Given the description of an element on the screen output the (x, y) to click on. 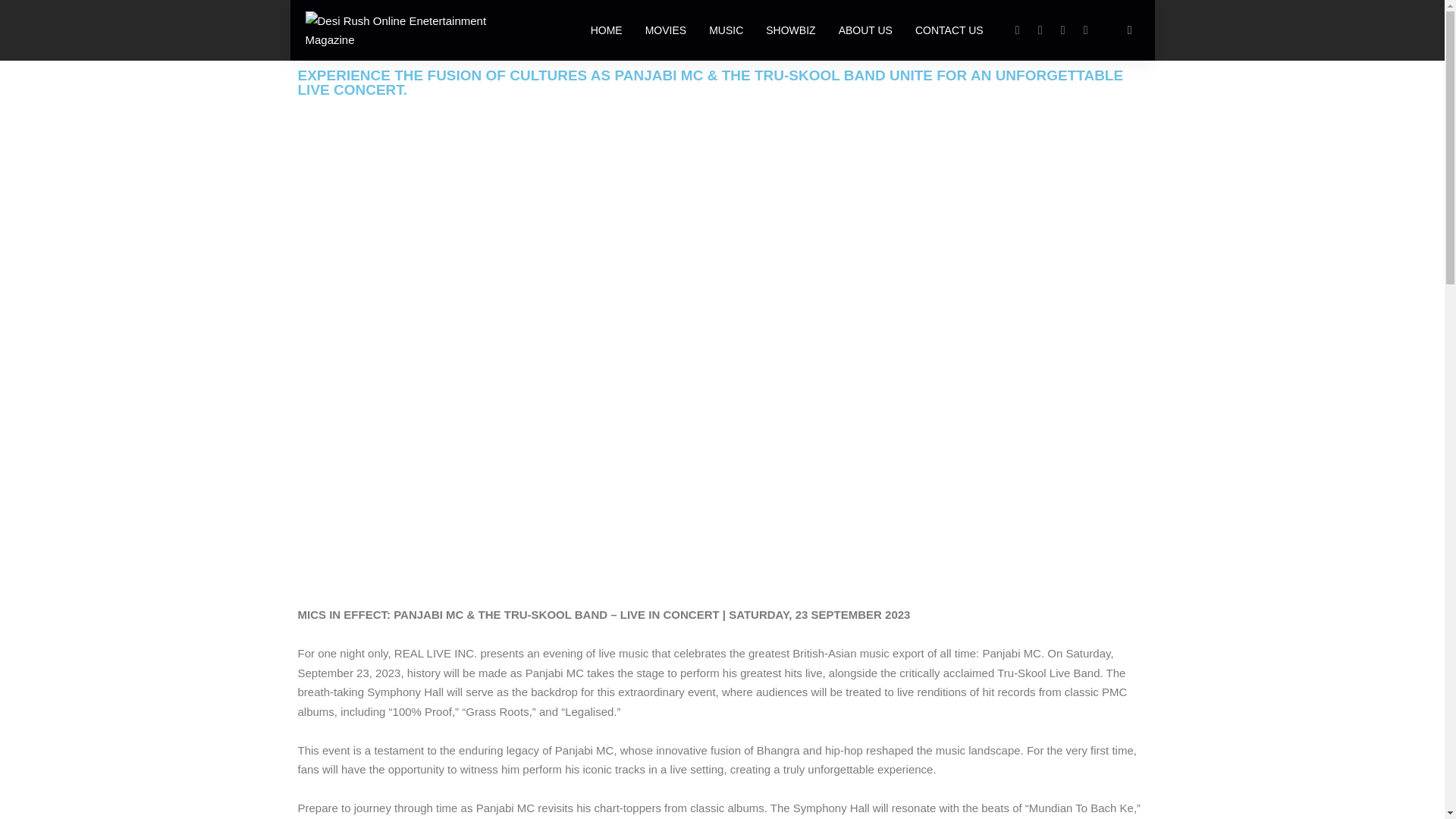
HOME (606, 30)
CONTACT US (949, 30)
Desi Rush (418, 29)
search (1129, 30)
ABOUT US (865, 30)
MUSIC (725, 30)
SHOWBIZ (790, 30)
MOVIES (665, 30)
